Given the description of an element on the screen output the (x, y) to click on. 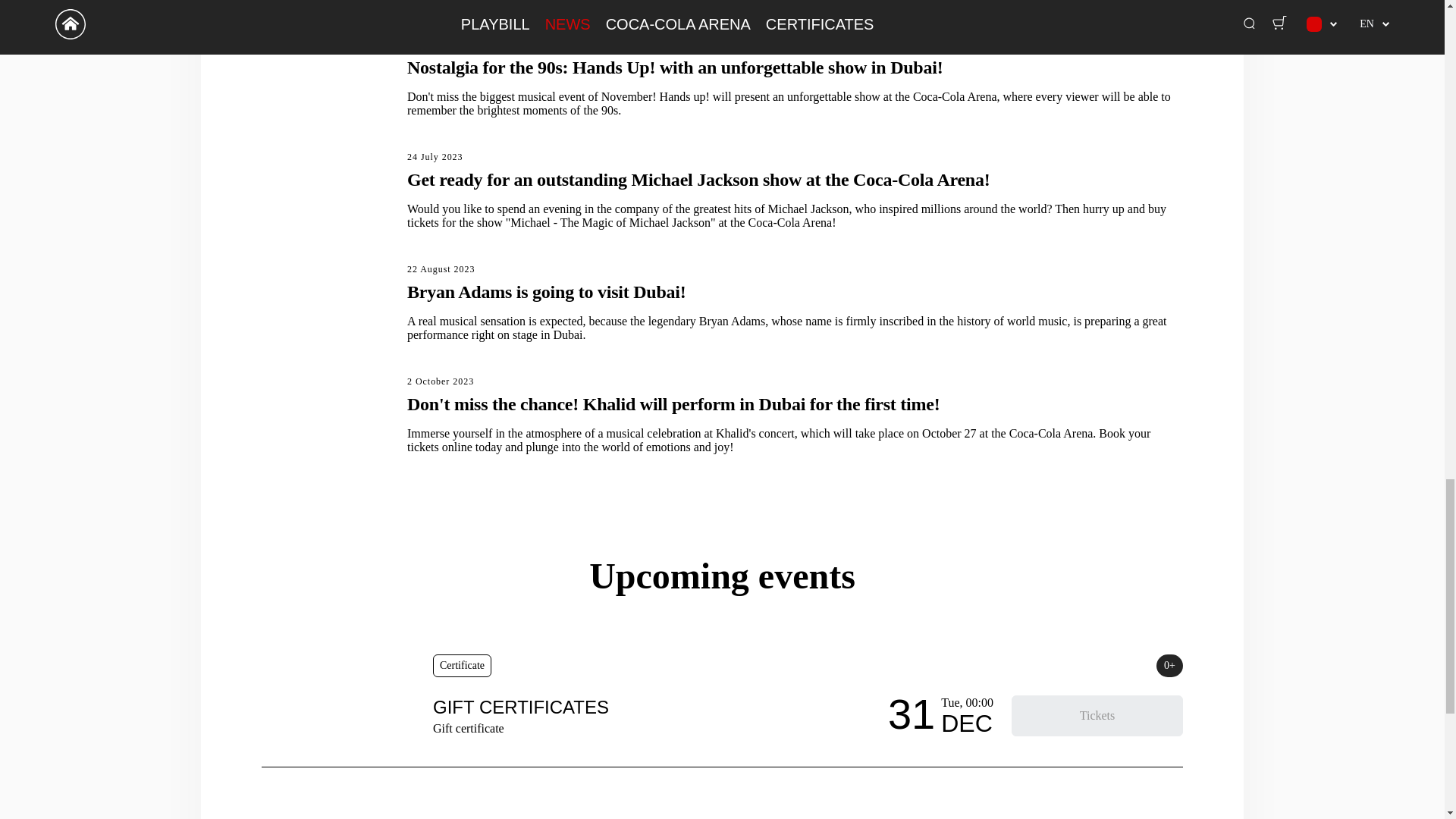
Tickets (1096, 715)
